Given the description of an element on the screen output the (x, y) to click on. 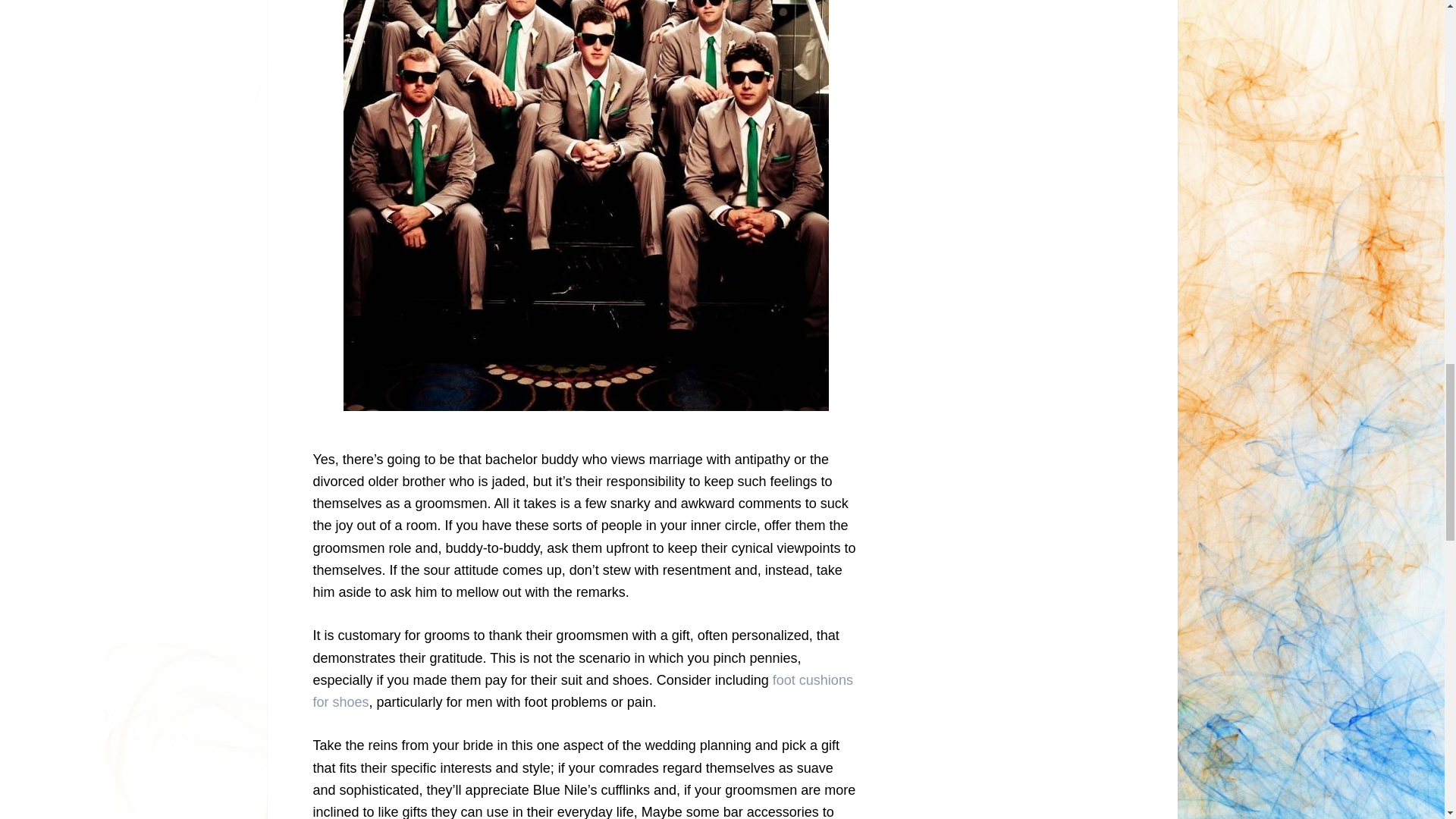
foot cushions for shoes (582, 691)
